Given the description of an element on the screen output the (x, y) to click on. 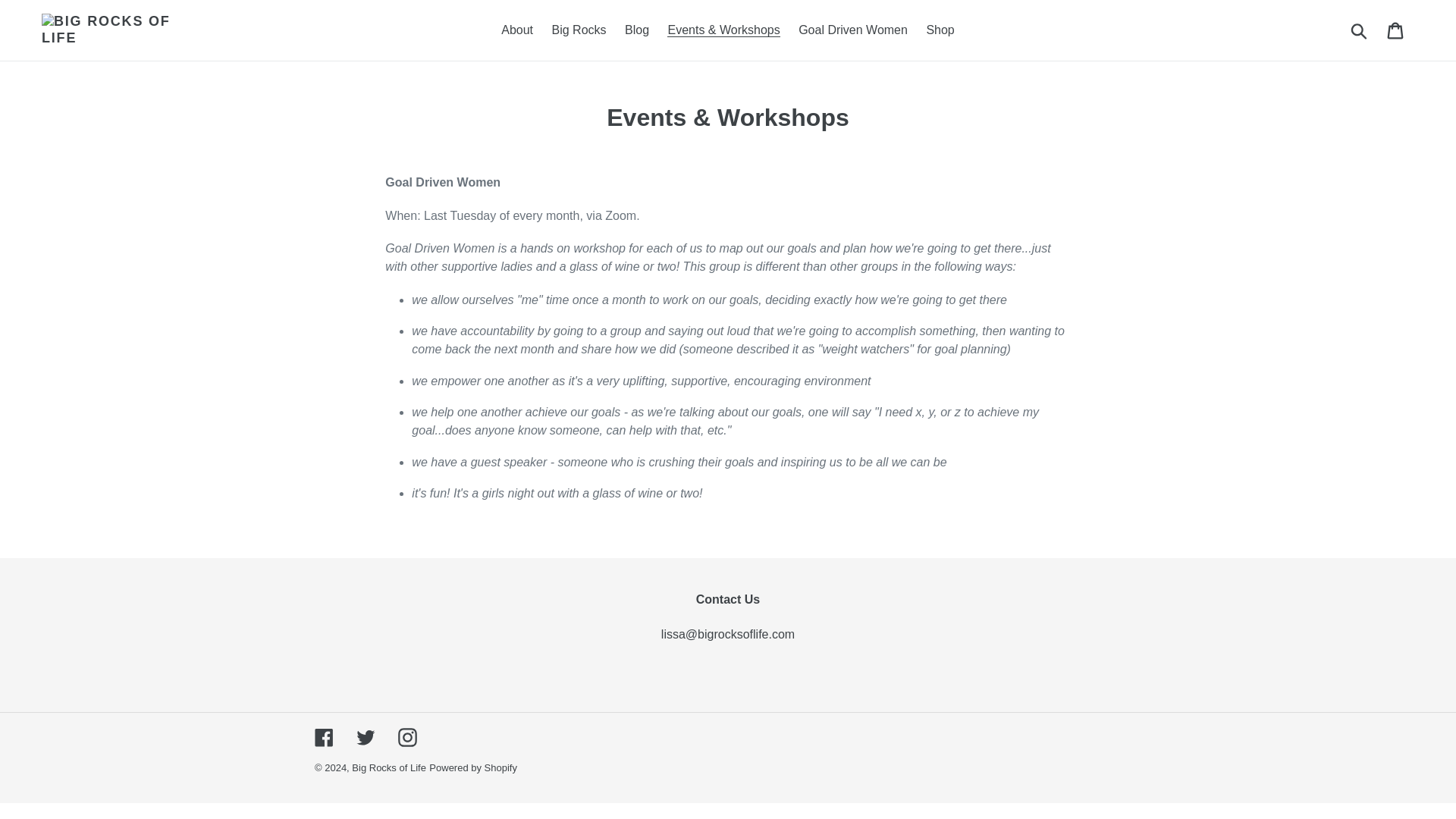
Shop (939, 29)
Blog (636, 29)
Submit (1359, 29)
Instagram (406, 737)
Twitter (365, 737)
Facebook (323, 737)
About (516, 29)
Big Rocks (579, 29)
Goal Driven Women (852, 29)
Big Rocks of Life (389, 767)
Cart (1395, 29)
Powered by Shopify (472, 767)
